Given the description of an element on the screen output the (x, y) to click on. 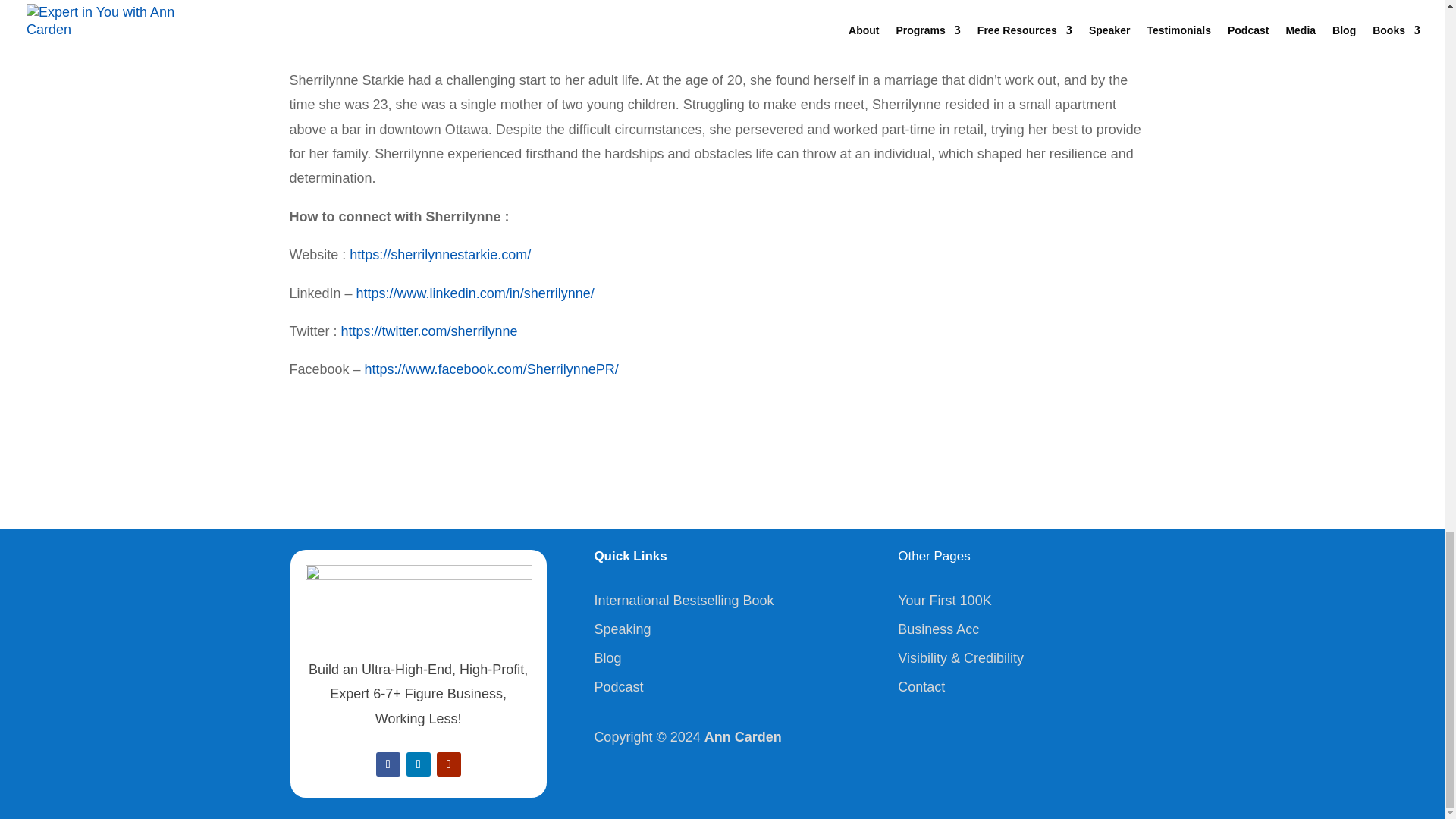
Follow on LinkedIn (418, 764)
ExpertInYouwithAnn3 (417, 600)
Follow on Facebook (387, 764)
Follow on Youtube (448, 764)
